Given the description of an element on the screen output the (x, y) to click on. 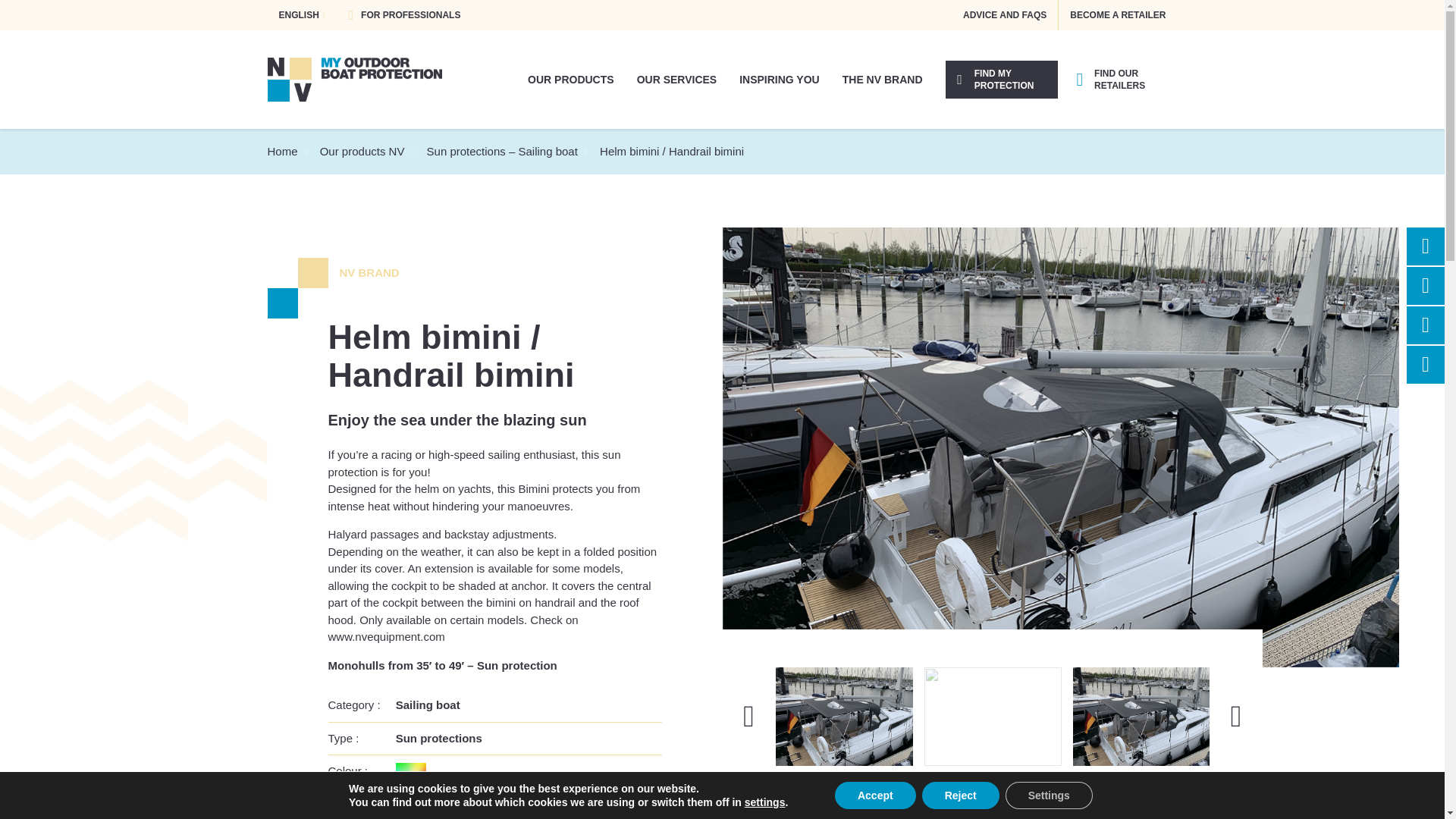
FOR PROFESSIONALS (403, 15)
ADVICE AND FAQS (1005, 15)
BECOME A RETAILER (1117, 15)
FIND OUR RETAILERS (1120, 79)
